Given the description of an element on the screen output the (x, y) to click on. 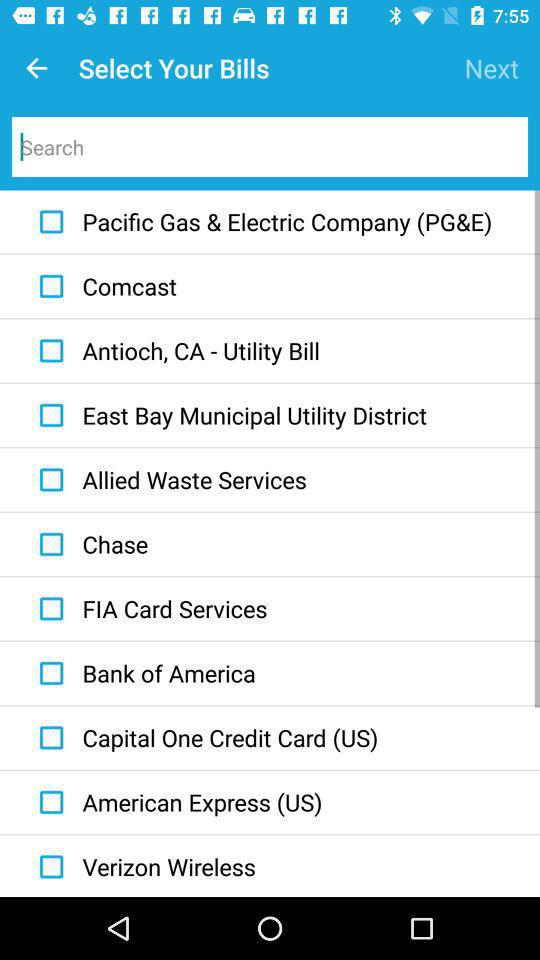
swipe to the next (491, 67)
